Given the description of an element on the screen output the (x, y) to click on. 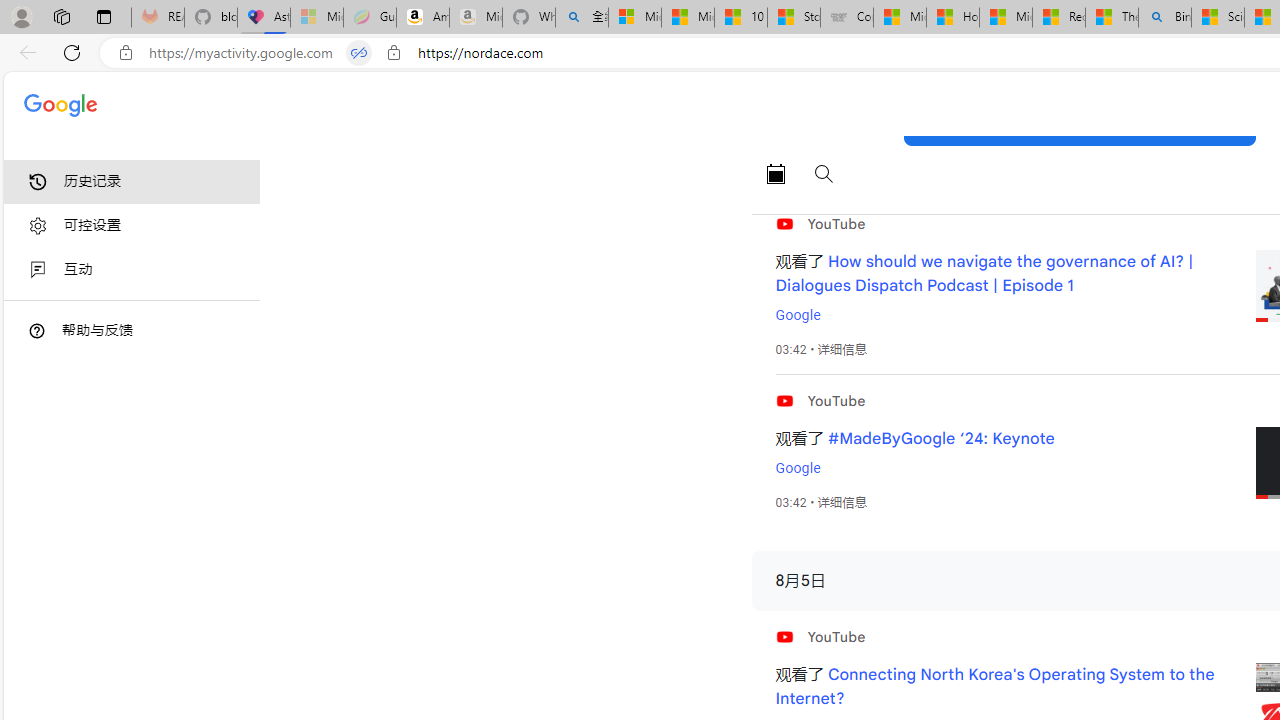
Tabs in split screen (358, 53)
